Given the description of an element on the screen output the (x, y) to click on. 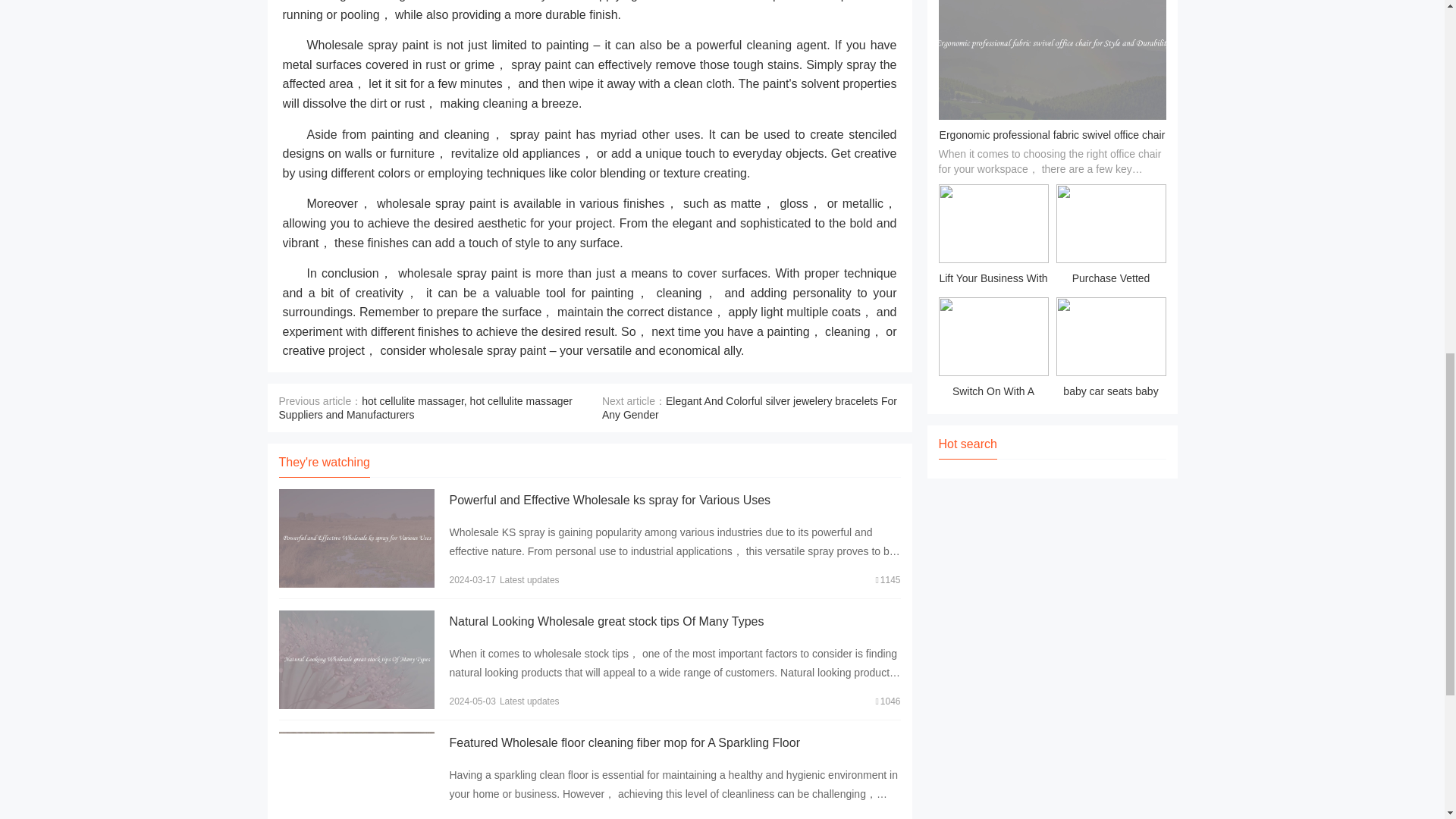
Natural Looking Wholesale great stock tips Of Many Types (605, 621)
baby car seats baby car seats Suppliers and Manufacturers (1110, 349)
Switch On With A Wholesale ds2e s dc24v relay (993, 349)
Powerful and Effective Wholesale ks spray for Various Uses (609, 499)
Lift Your Business With a Wholesale vacuum box lifter (993, 236)
